Given the description of an element on the screen output the (x, y) to click on. 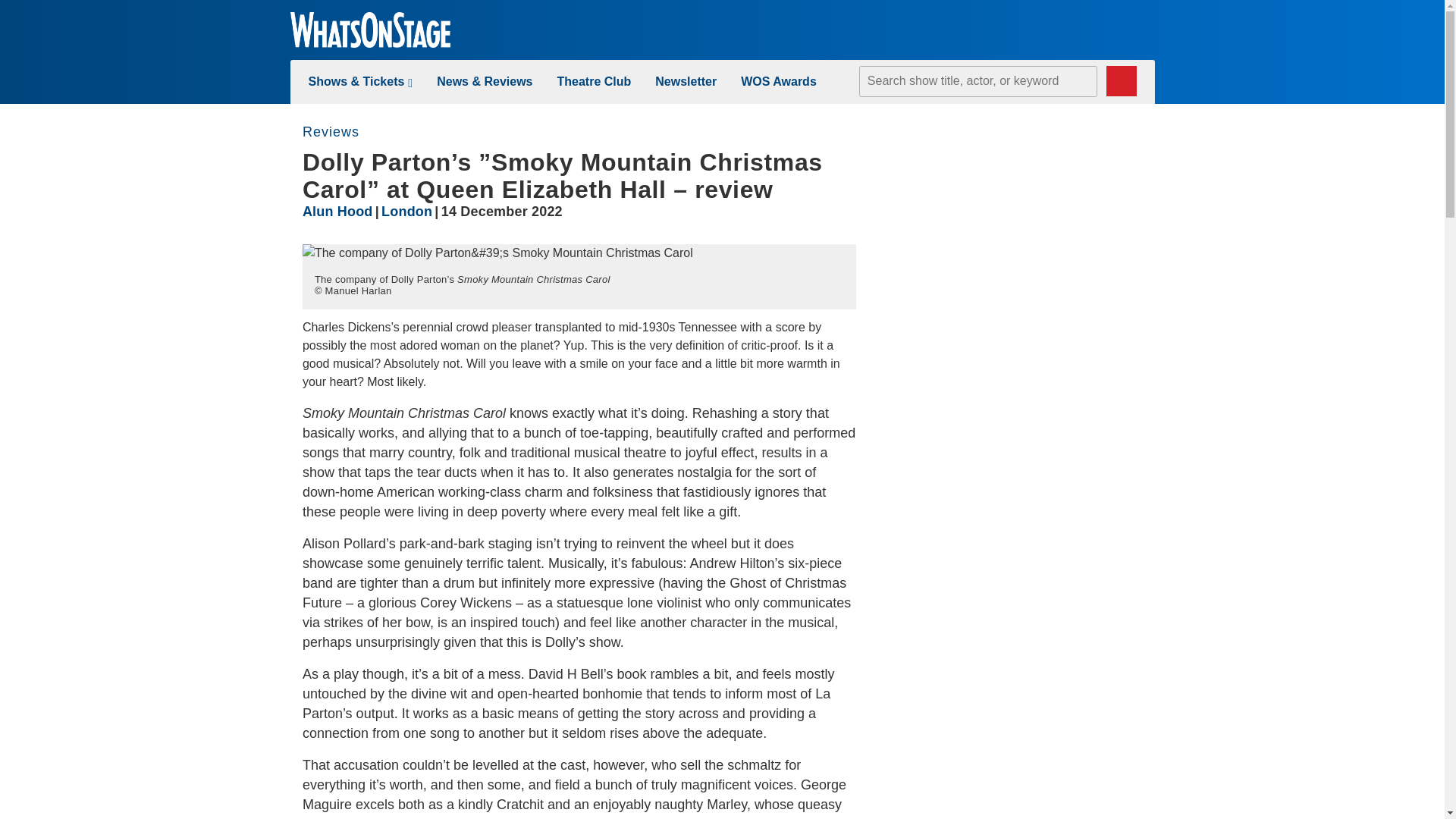
Theatre Club (593, 81)
Newsletter (685, 81)
new-and-reviews-link (484, 81)
WOS Awards (778, 81)
